Given the description of an element on the screen output the (x, y) to click on. 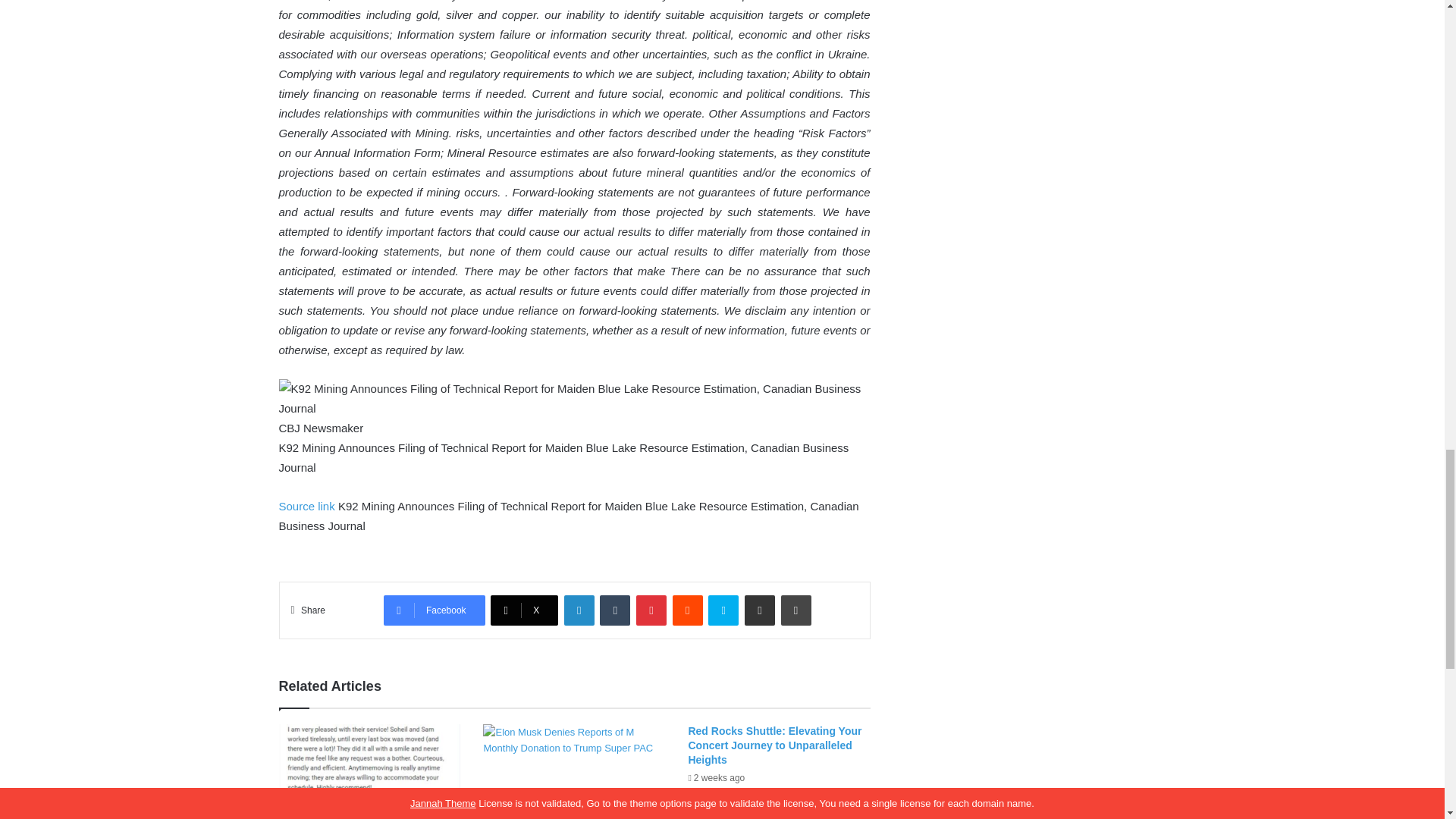
Skype (722, 610)
Reddit (687, 610)
Tumblr (614, 610)
Reddit (687, 610)
Pinterest (651, 610)
Facebook (434, 610)
Facebook (434, 610)
Pinterest (651, 610)
Source link (308, 505)
Tumblr (614, 610)
LinkedIn (579, 610)
X (523, 610)
X (523, 610)
LinkedIn (579, 610)
